Given the description of an element on the screen output the (x, y) to click on. 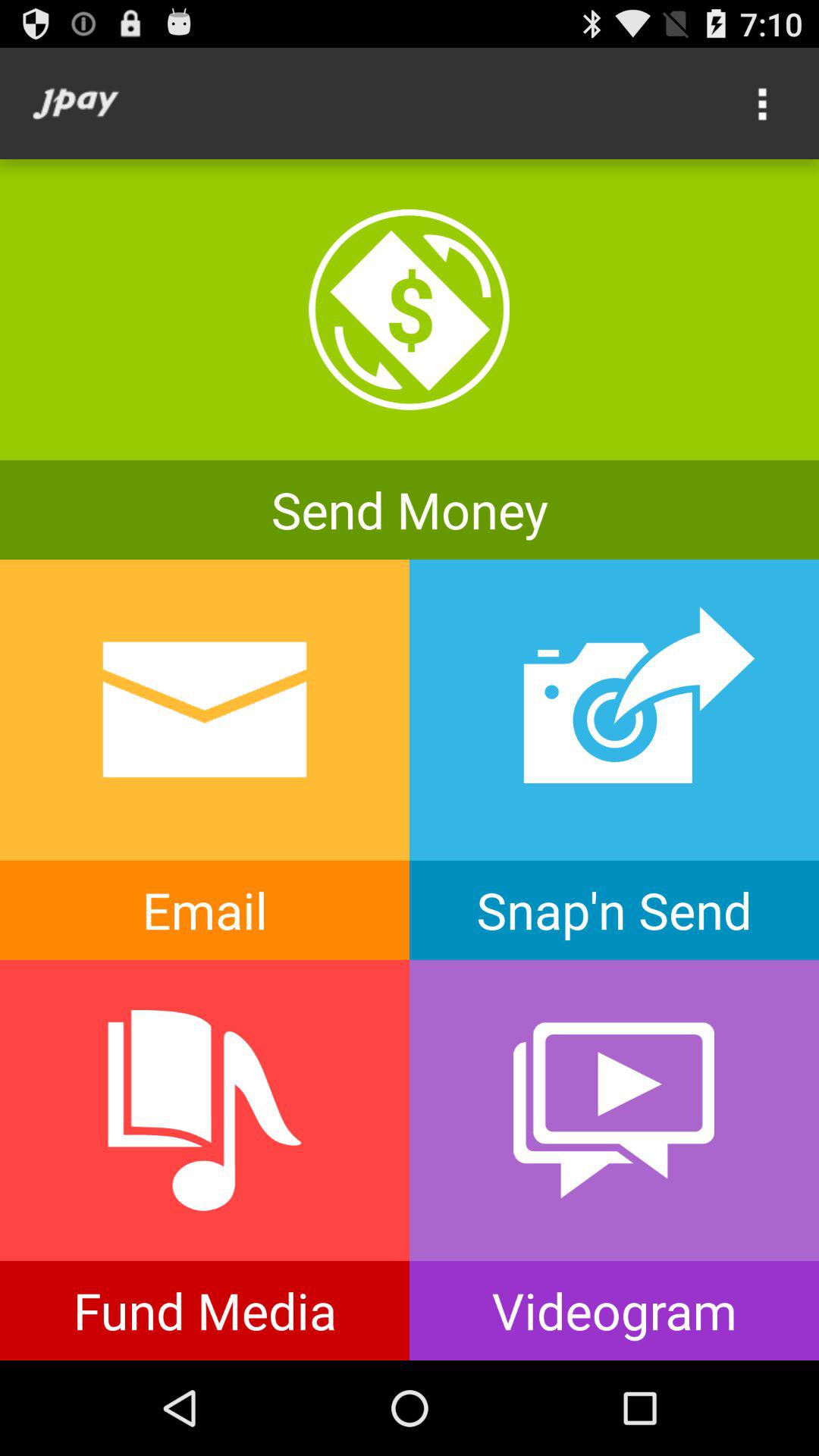
go to videogram (614, 1160)
